Given the description of an element on the screen output the (x, y) to click on. 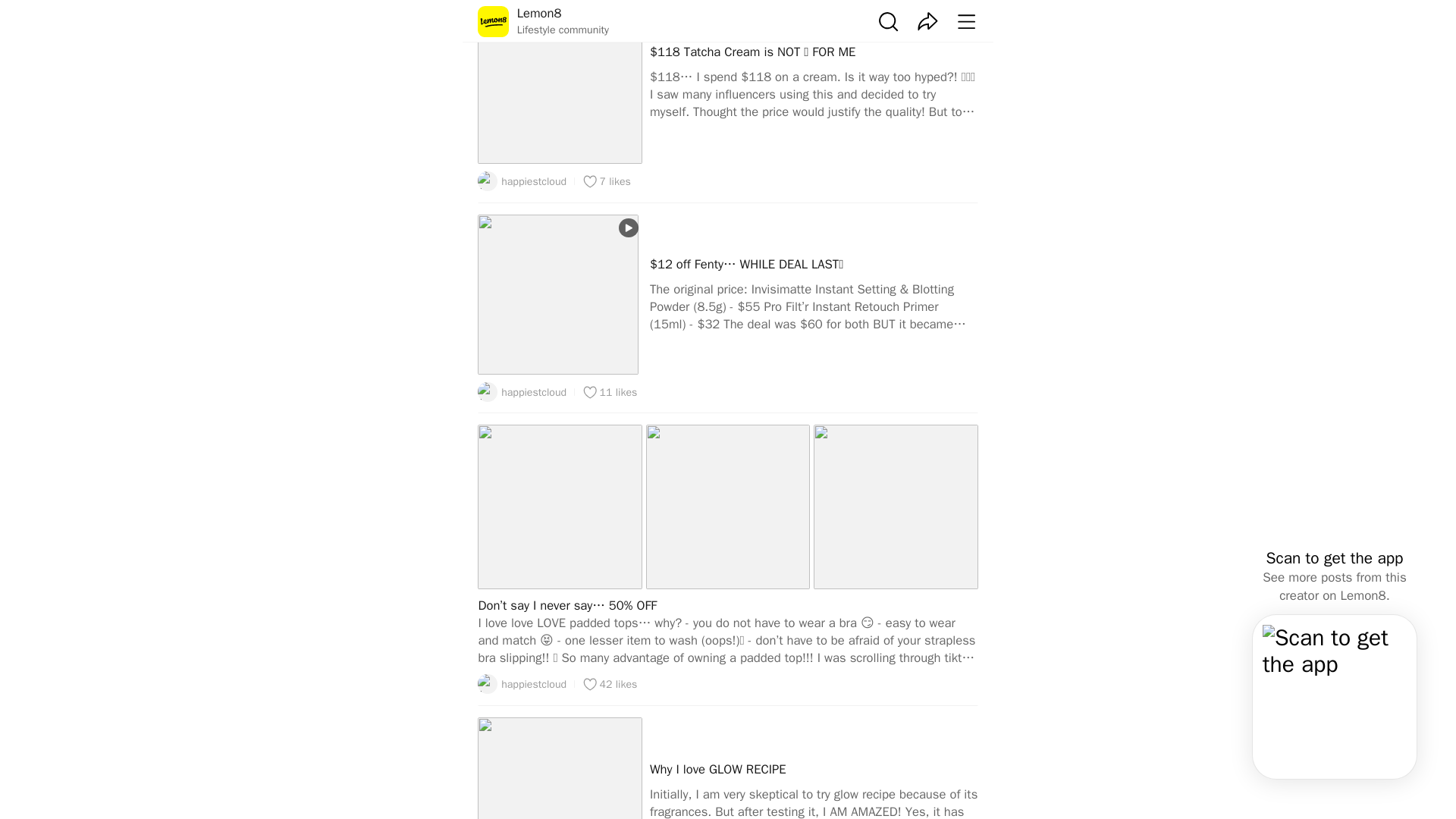
happiestcloud (521, 683)
happiestcloud (521, 392)
happiestcloud (521, 180)
